Given the description of an element on the screen output the (x, y) to click on. 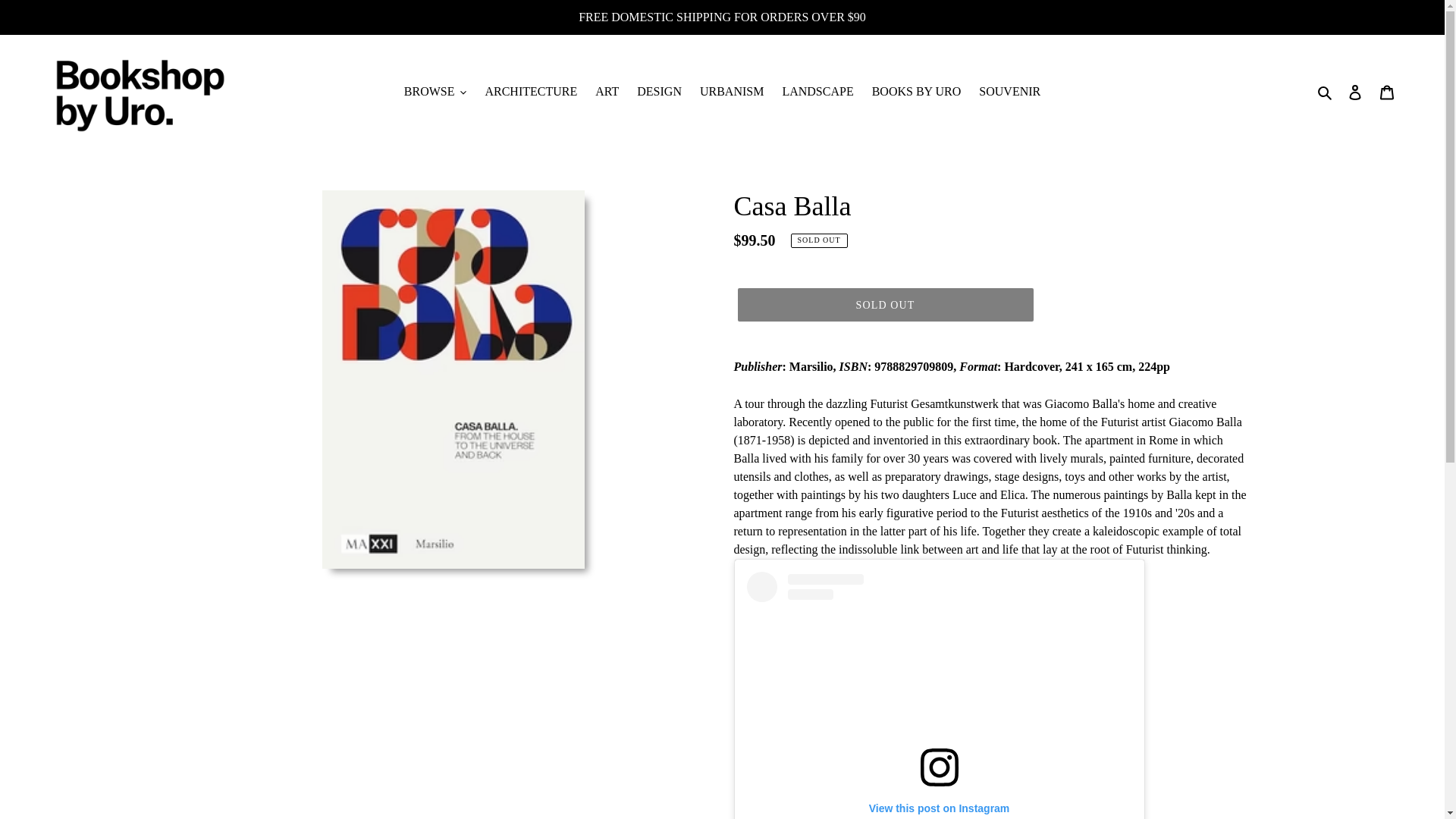
URBANISM (732, 91)
ARCHITECTURE (531, 91)
BROWSE (435, 91)
Cart (1387, 91)
SOUVENIR (1009, 91)
BOOKS BY URO (916, 91)
DESIGN (658, 91)
LANDSCAPE (817, 91)
Search (1326, 91)
Log in (1355, 91)
ART (607, 91)
